Given the description of an element on the screen output the (x, y) to click on. 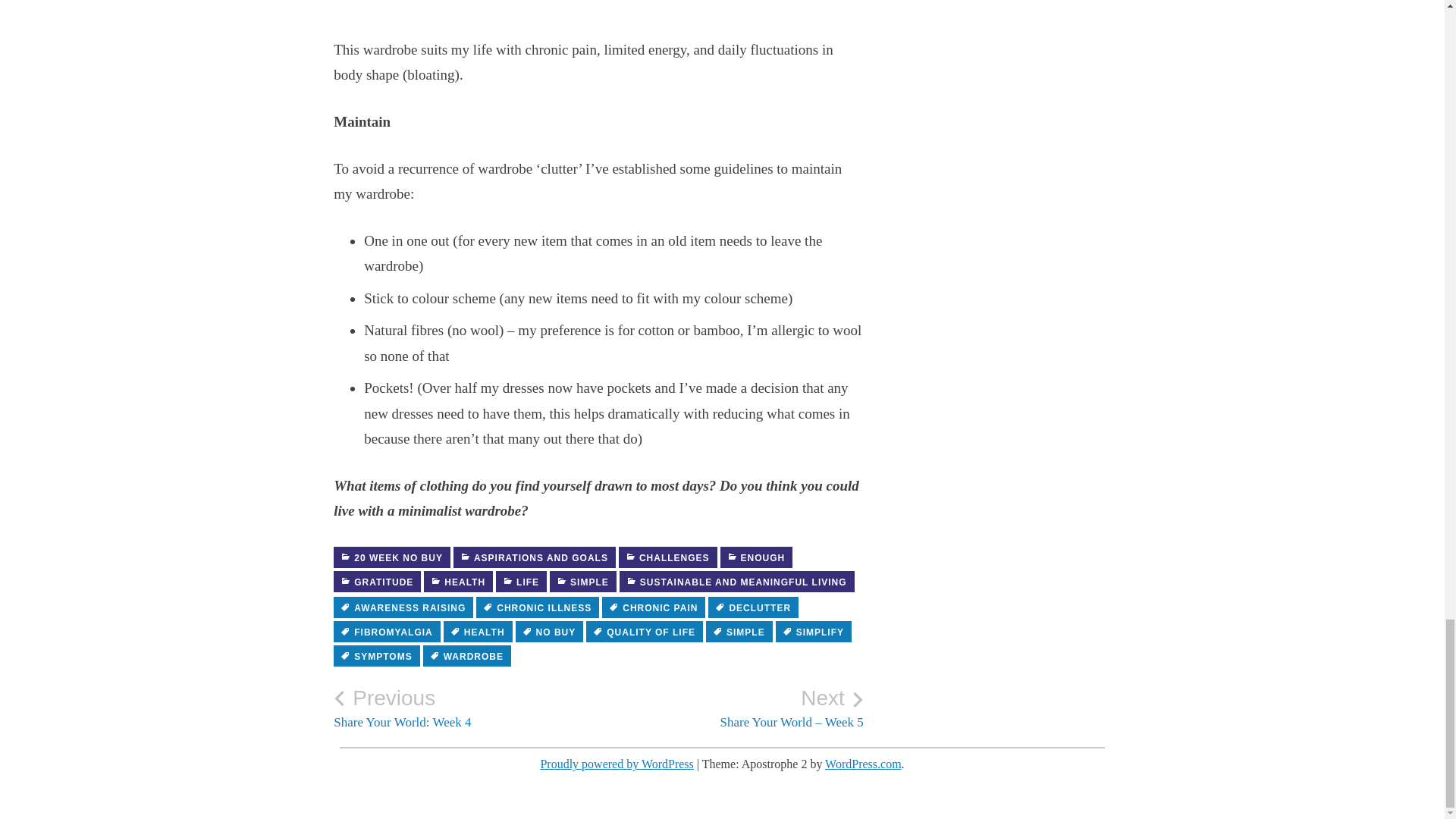
DECLUTTER (752, 607)
CHRONIC PAIN (653, 607)
ASPIRATIONS AND GOALS (533, 557)
NO BUY (549, 631)
HEALTH (478, 631)
20 WEEK NO BUY (391, 557)
GRATITUDE (376, 581)
SUSTAINABLE AND MEANINGFUL LIVING (465, 708)
CHALLENGES (737, 581)
